Given the description of an element on the screen output the (x, y) to click on. 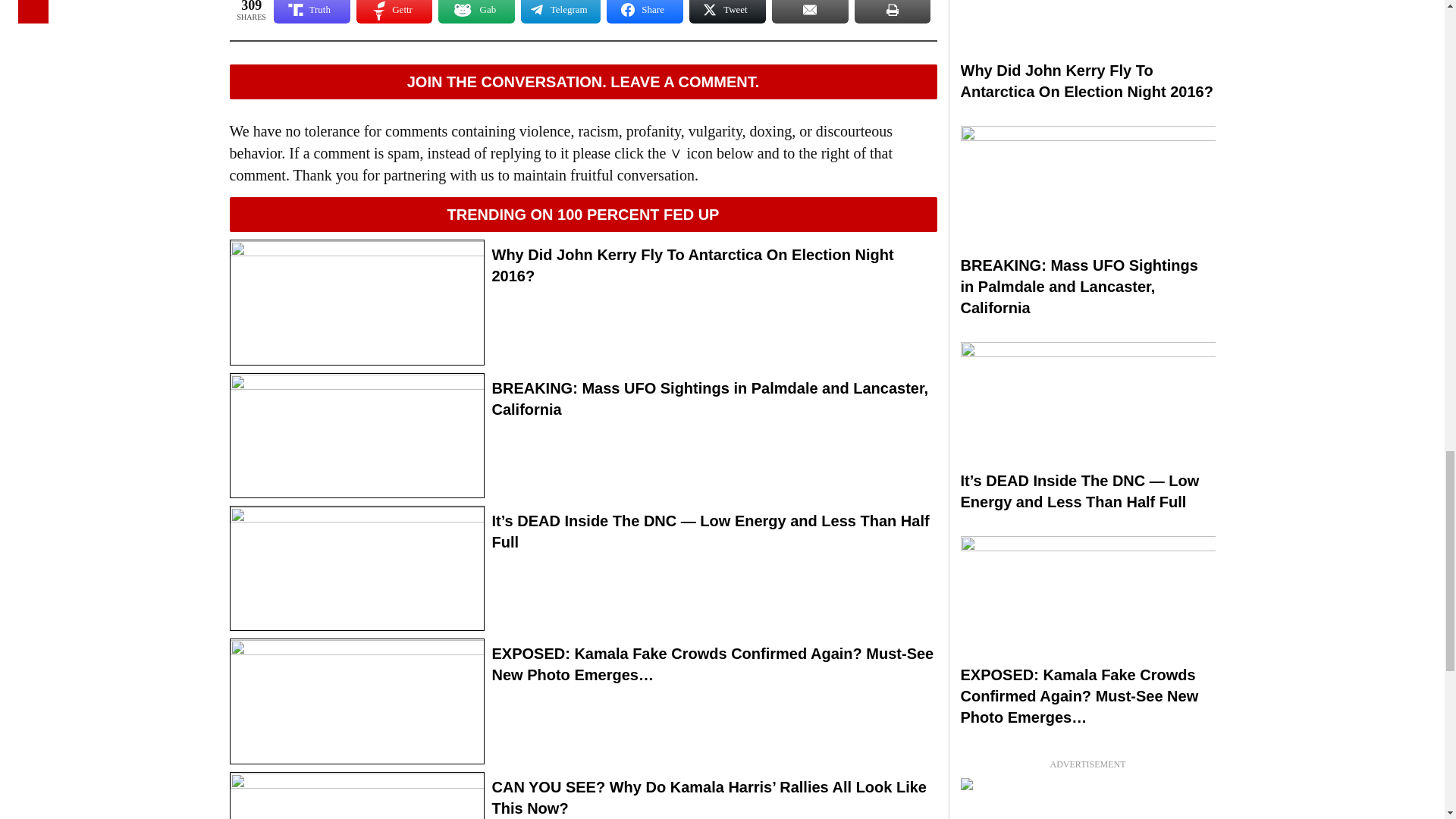
Truth (311, 11)
Share on Gab (476, 11)
Share on Truth (311, 11)
Share on Telegram (560, 11)
Share on Gettr (394, 11)
